Given the description of an element on the screen output the (x, y) to click on. 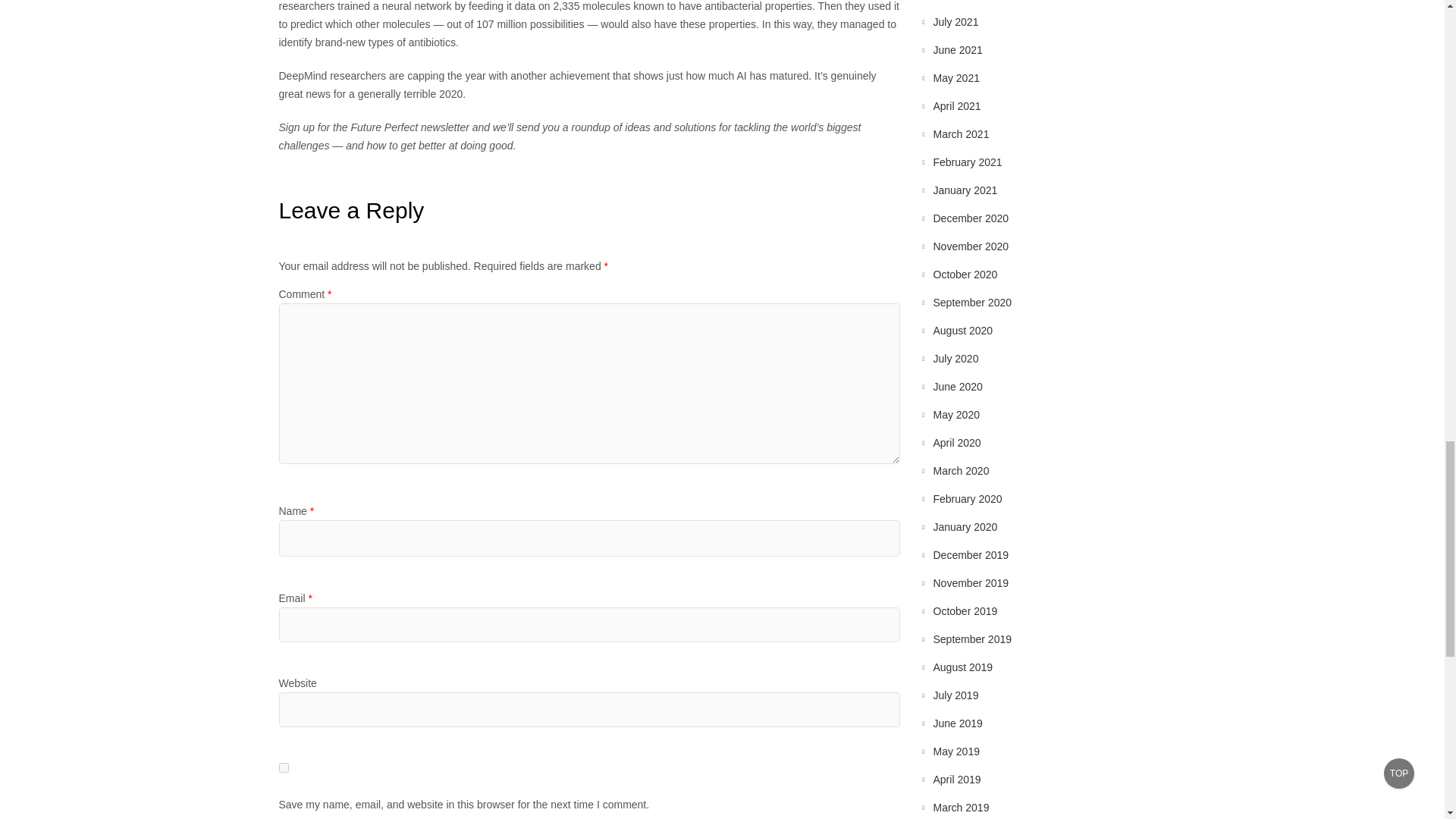
yes (283, 767)
